Given the description of an element on the screen output the (x, y) to click on. 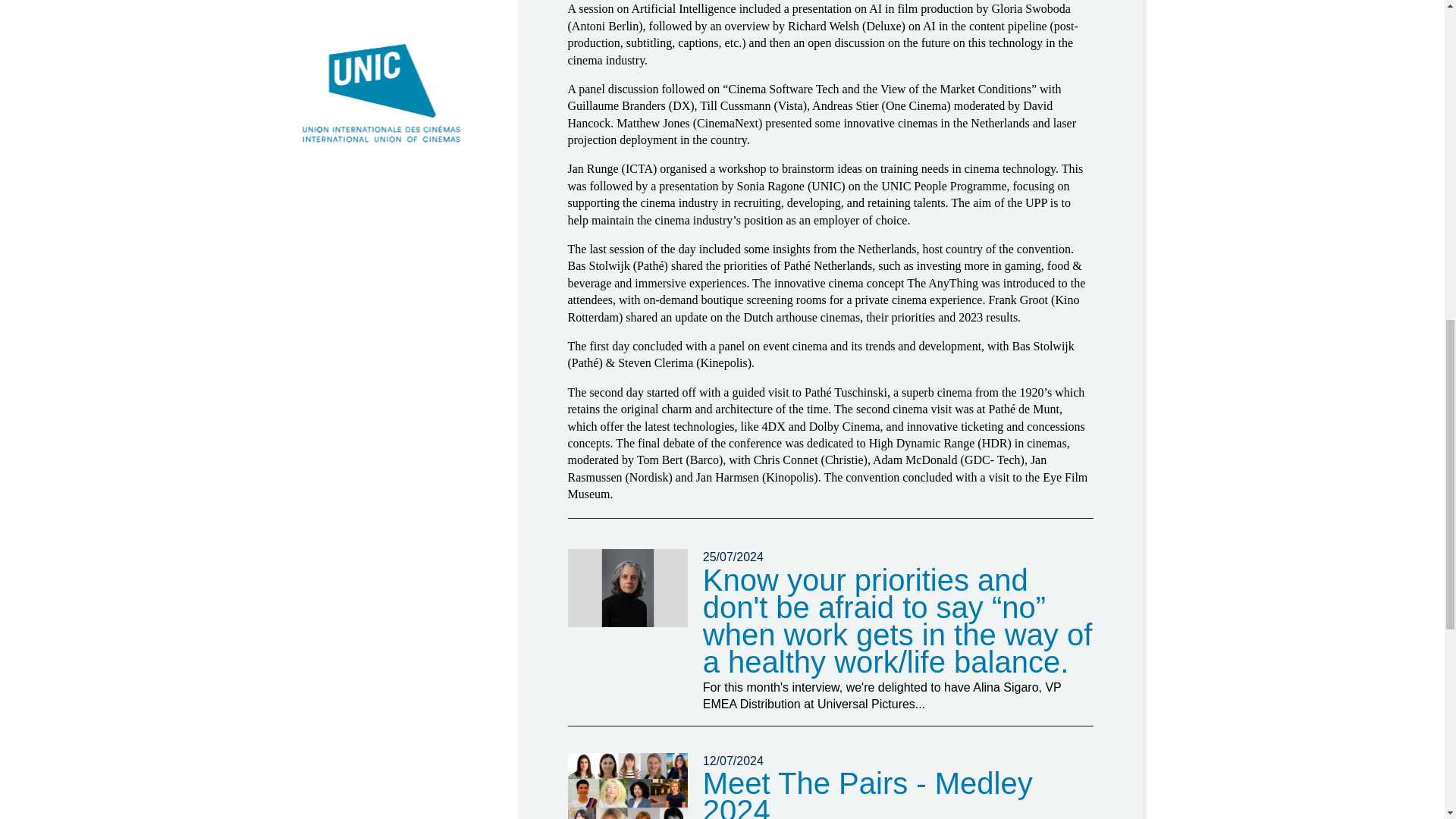
Meet The Pairs - Medley 2024 (867, 792)
Meet The Pairs - Medley 2024 (627, 785)
Meet The Pairs - Medley 2024 (867, 792)
